Given the description of an element on the screen output the (x, y) to click on. 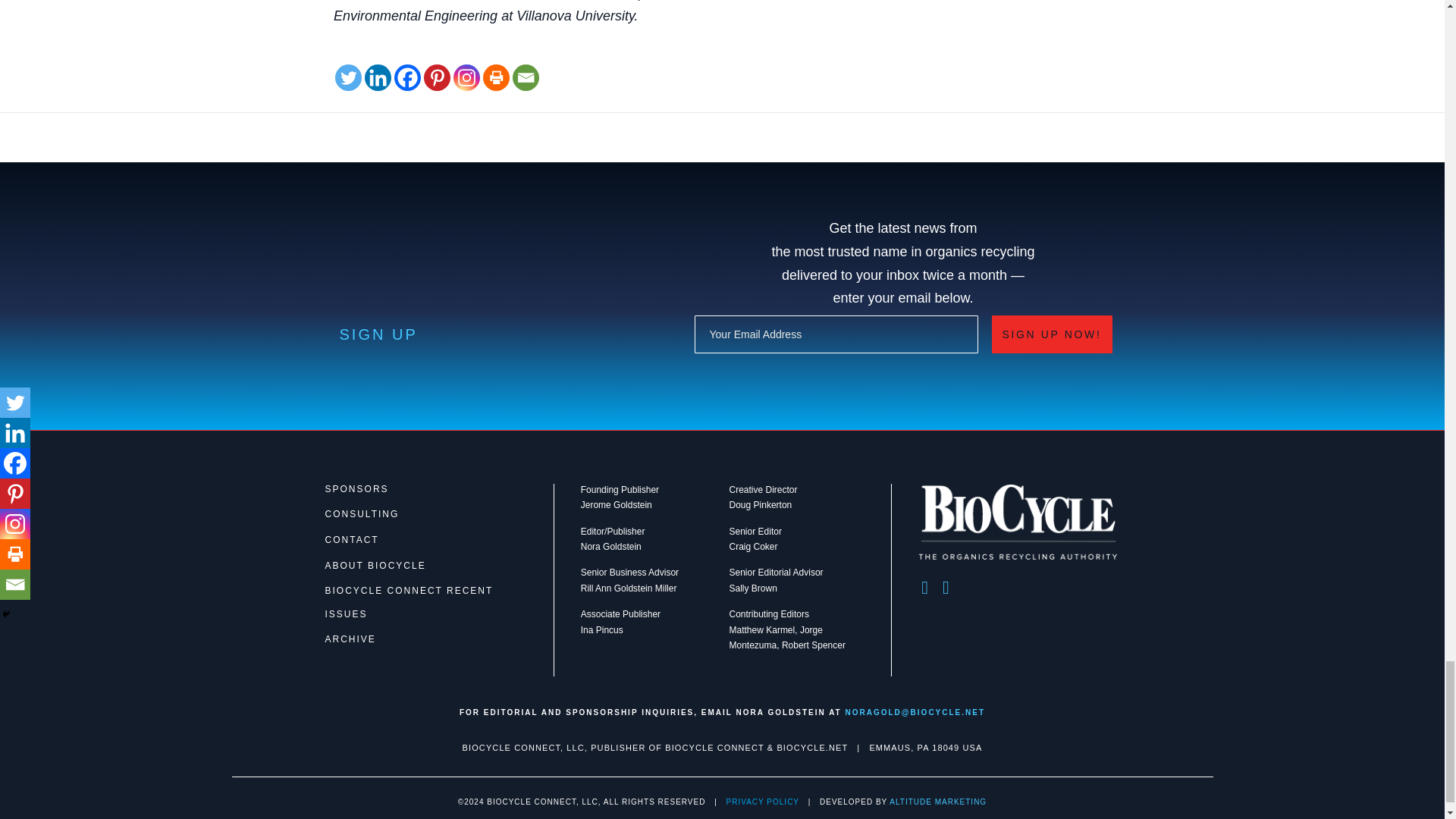
Print (496, 77)
Instagram (466, 77)
Sign Up Now! (1051, 333)
Linkedin (378, 77)
Email (525, 77)
Twitter (347, 77)
Pinterest (436, 77)
Facebook (407, 77)
